Given the description of an element on the screen output the (x, y) to click on. 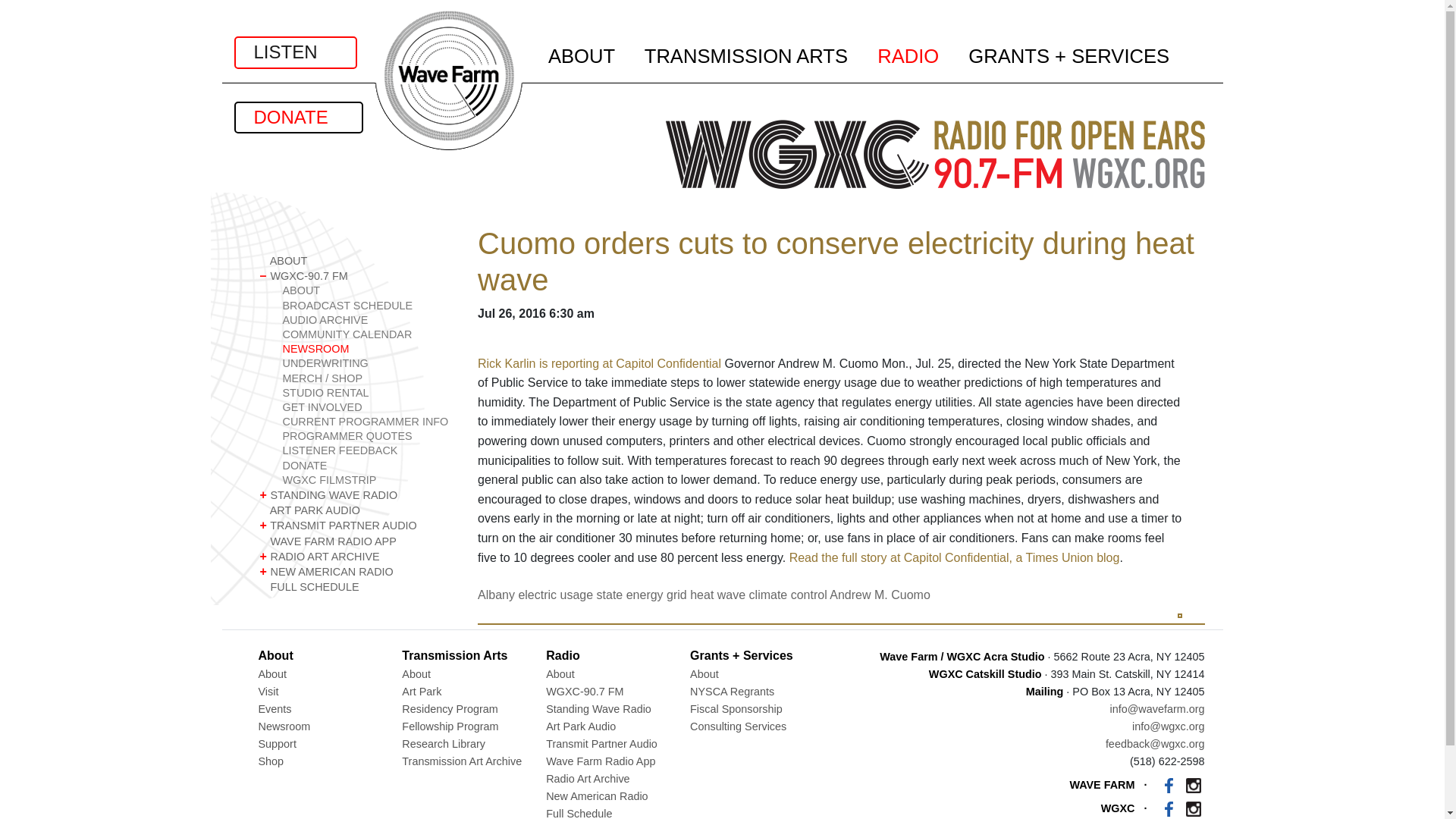
DONATE    (297, 117)
ABOUT (367, 290)
LISTEN     (294, 51)
  ABOUT (355, 260)
BROADCAST SCHEDULE (367, 305)
